Given the description of an element on the screen output the (x, y) to click on. 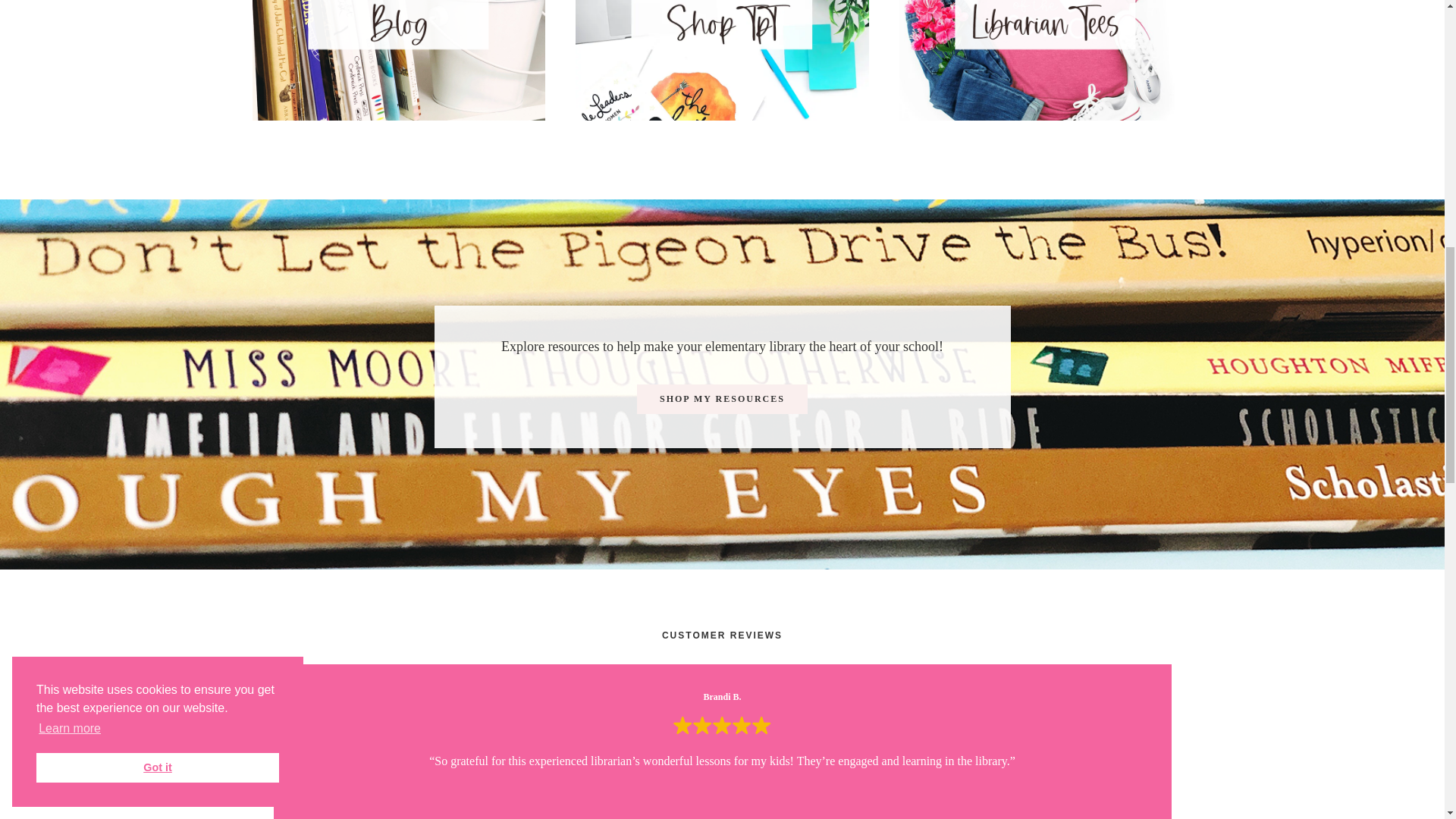
SHOP MY RESOURCES (722, 399)
